Given the description of an element on the screen output the (x, y) to click on. 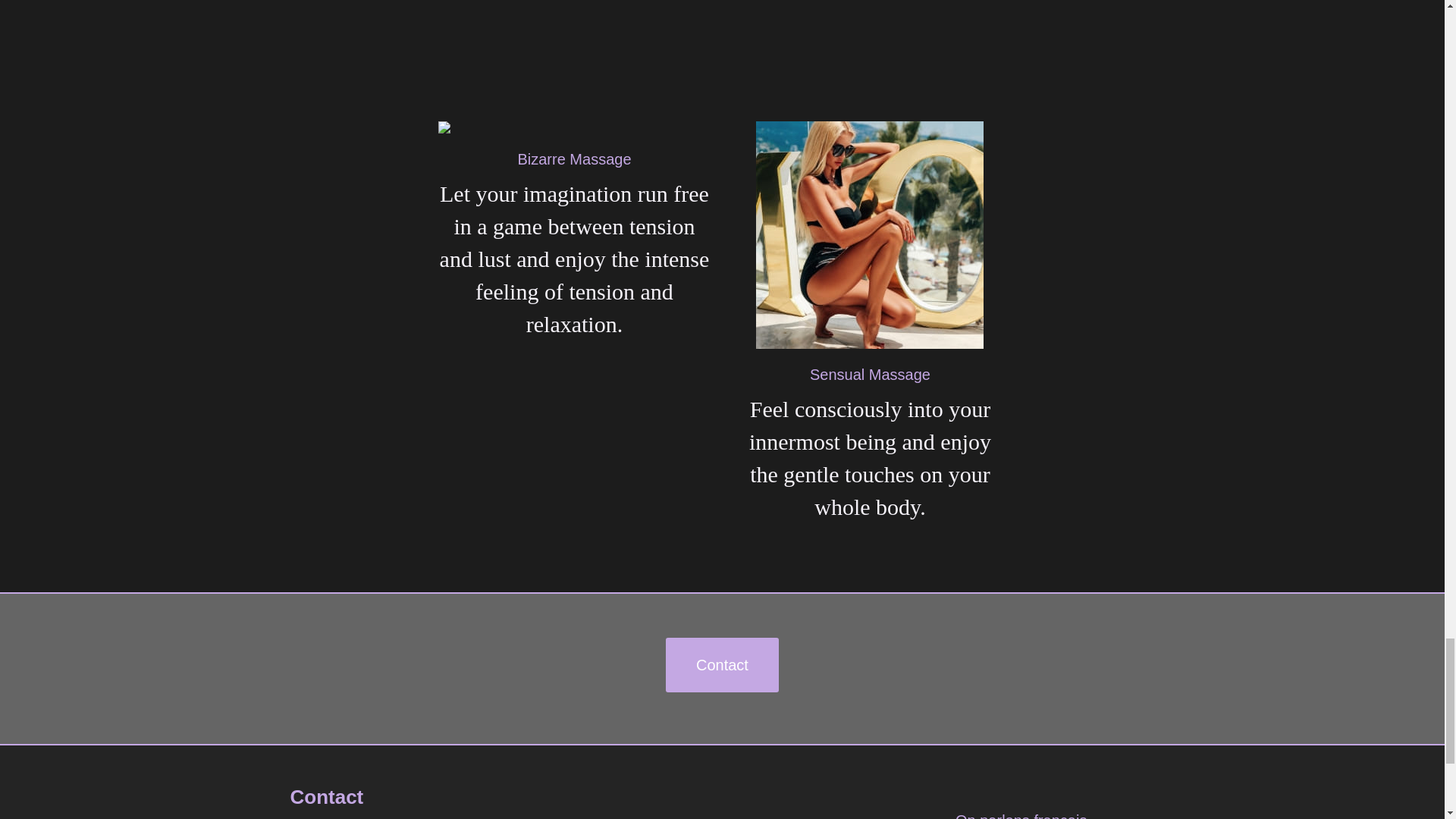
Contact (721, 665)
Bizarre Massage (573, 158)
Sensual Massage (869, 374)
On parlons francais (1020, 815)
